Given the description of an element on the screen output the (x, y) to click on. 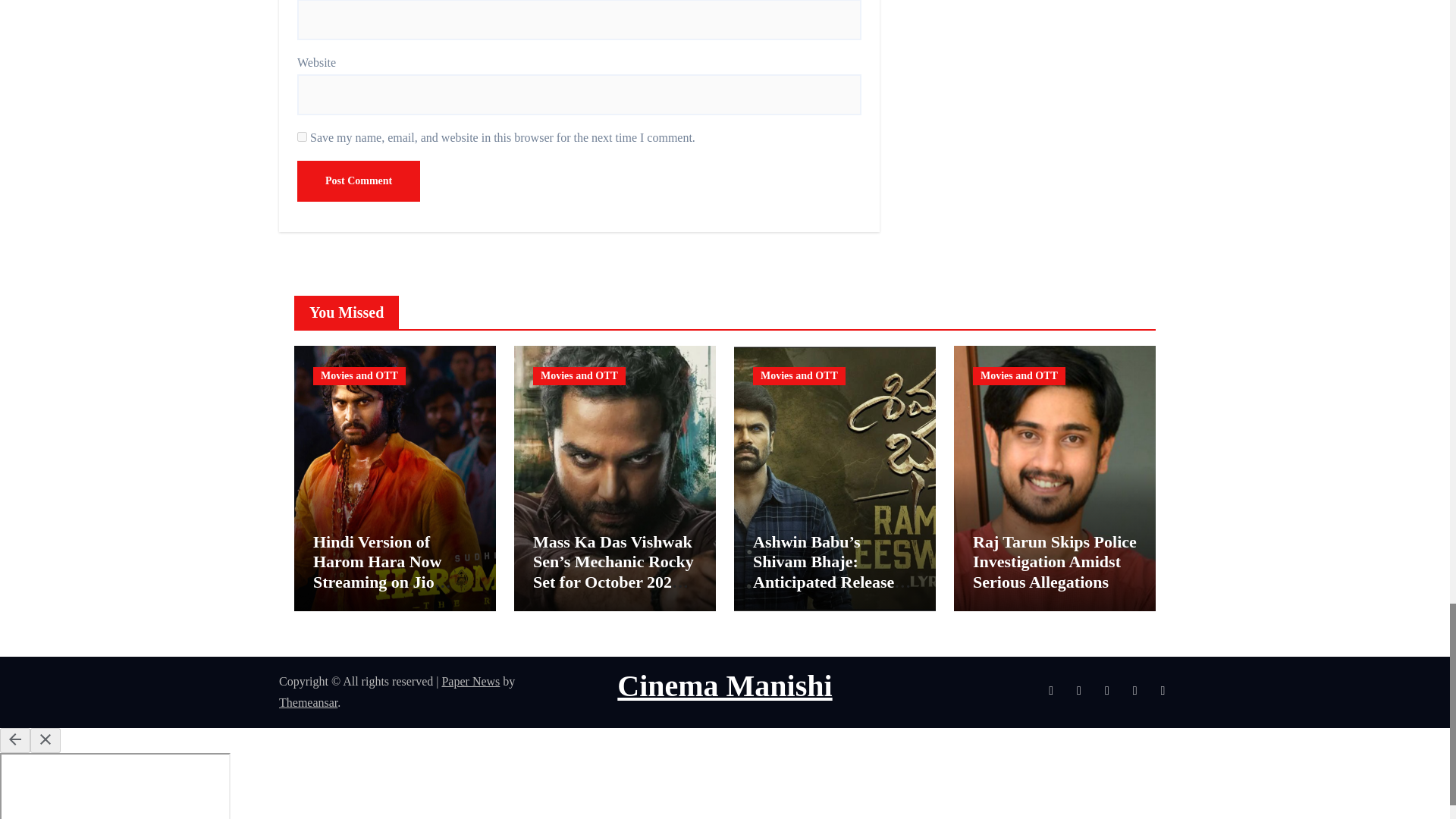
Post Comment (358, 180)
yes (302, 136)
